Given the description of an element on the screen output the (x, y) to click on. 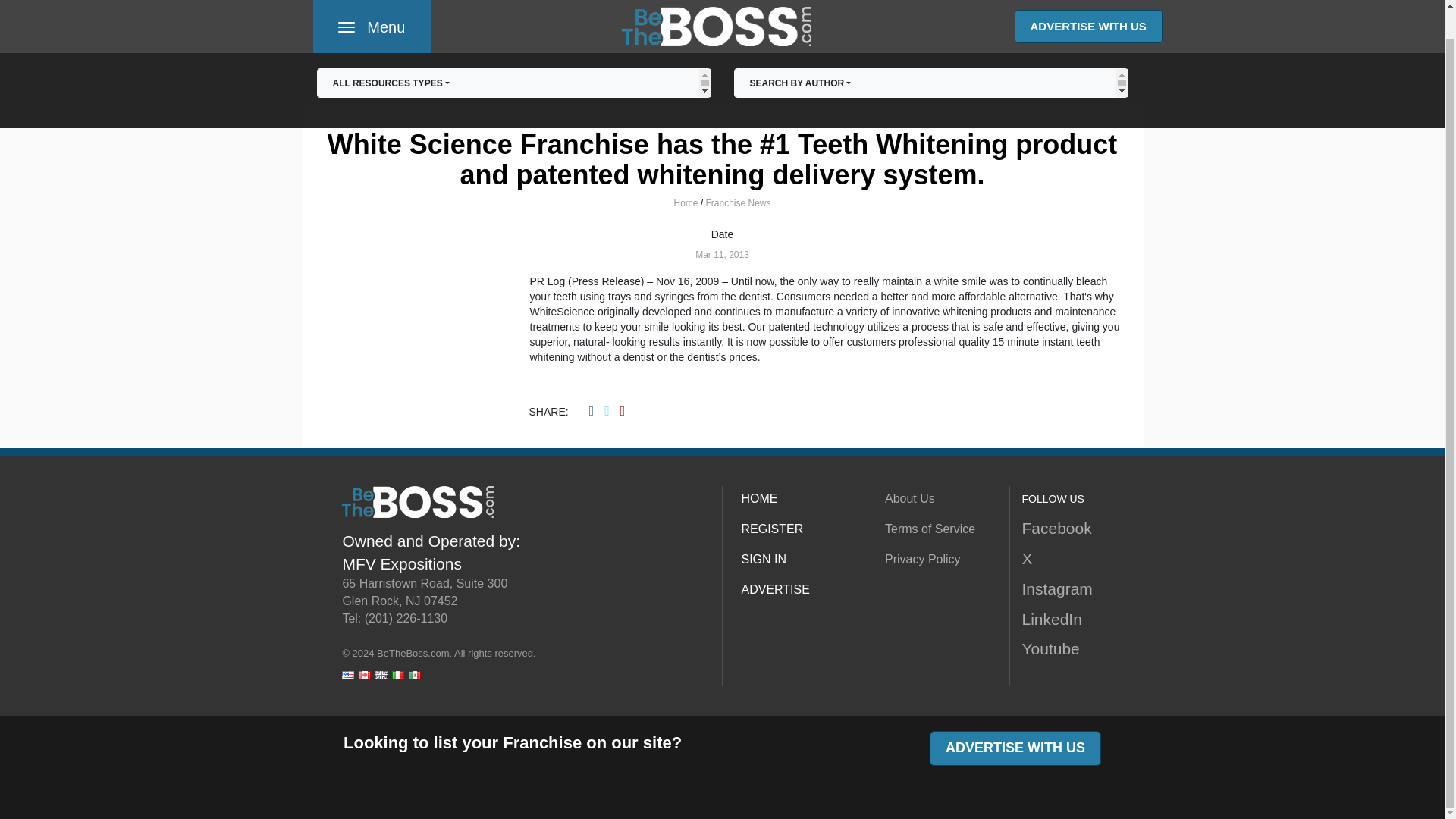
ADVERTISE WITH US (513, 61)
